Given the description of an element on the screen output the (x, y) to click on. 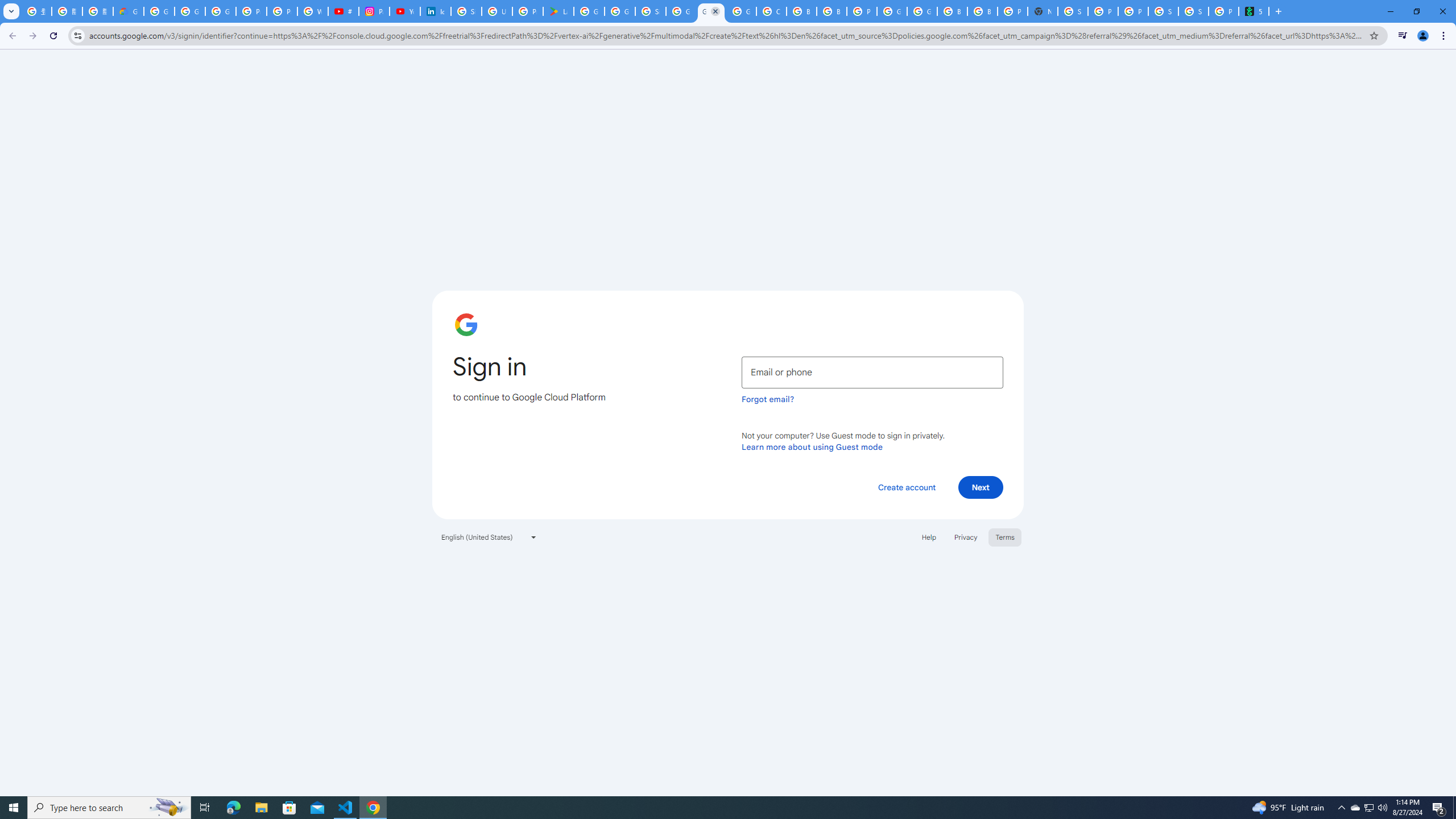
Browse Chrome as a guest - Computer - Google Chrome Help (801, 11)
Next (980, 486)
YouTube Culture & Trends - On The Rise: Handcam Videos (404, 11)
Google Workspace - Specific Terms (619, 11)
Google Cloud Platform (922, 11)
Sign in - Google Accounts (465, 11)
